Given the description of an element on the screen output the (x, y) to click on. 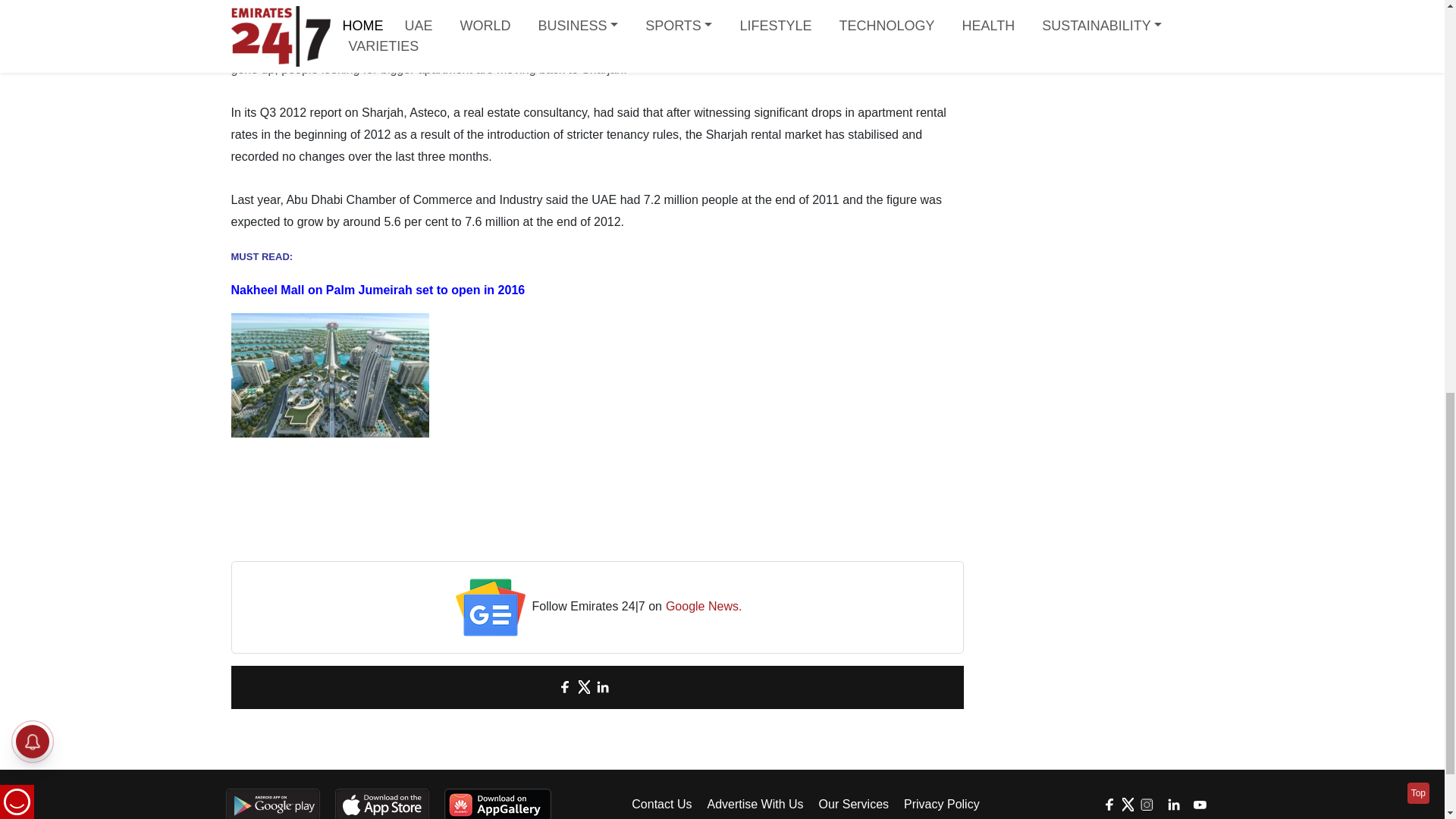
Nakheel Mall on Palm Jumeirah set to open in 2016 (377, 289)
